Given the description of an element on the screen output the (x, y) to click on. 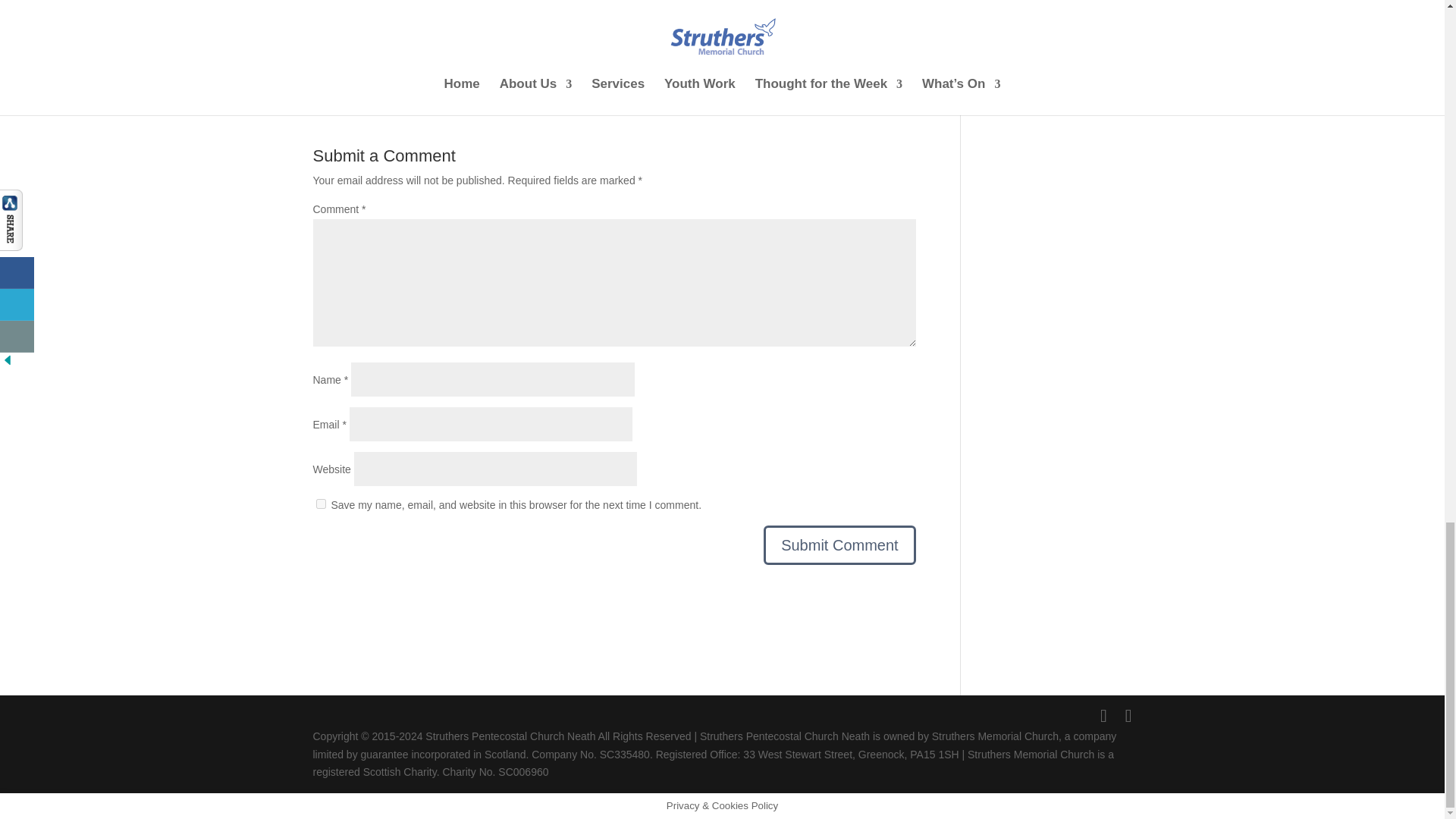
Reply (901, 46)
Submit Comment (838, 545)
Submit Comment (838, 545)
yes (319, 503)
